Given the description of an element on the screen output the (x, y) to click on. 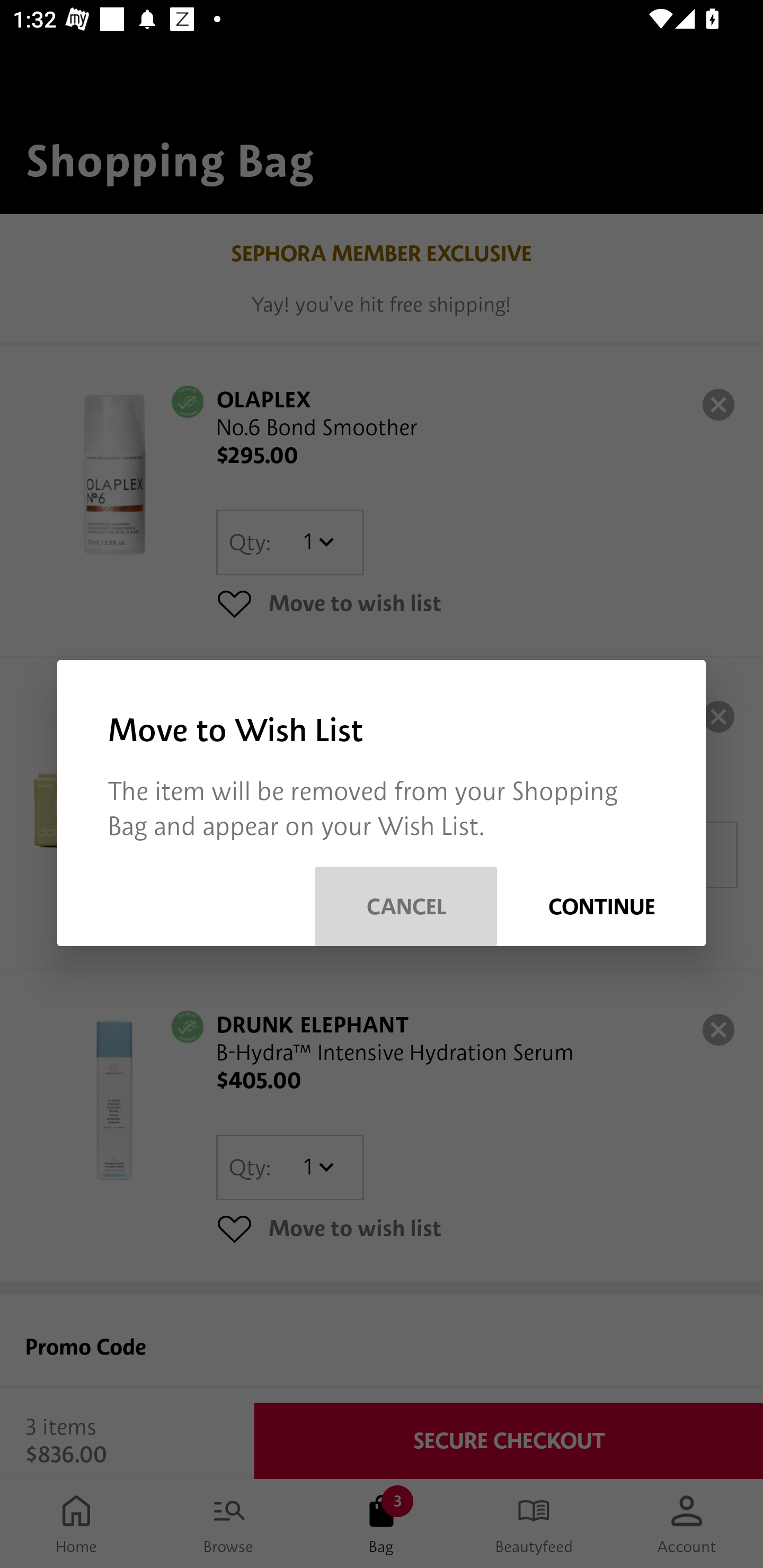
CANCEL (405, 906)
CONTINUE (600, 906)
